Given the description of an element on the screen output the (x, y) to click on. 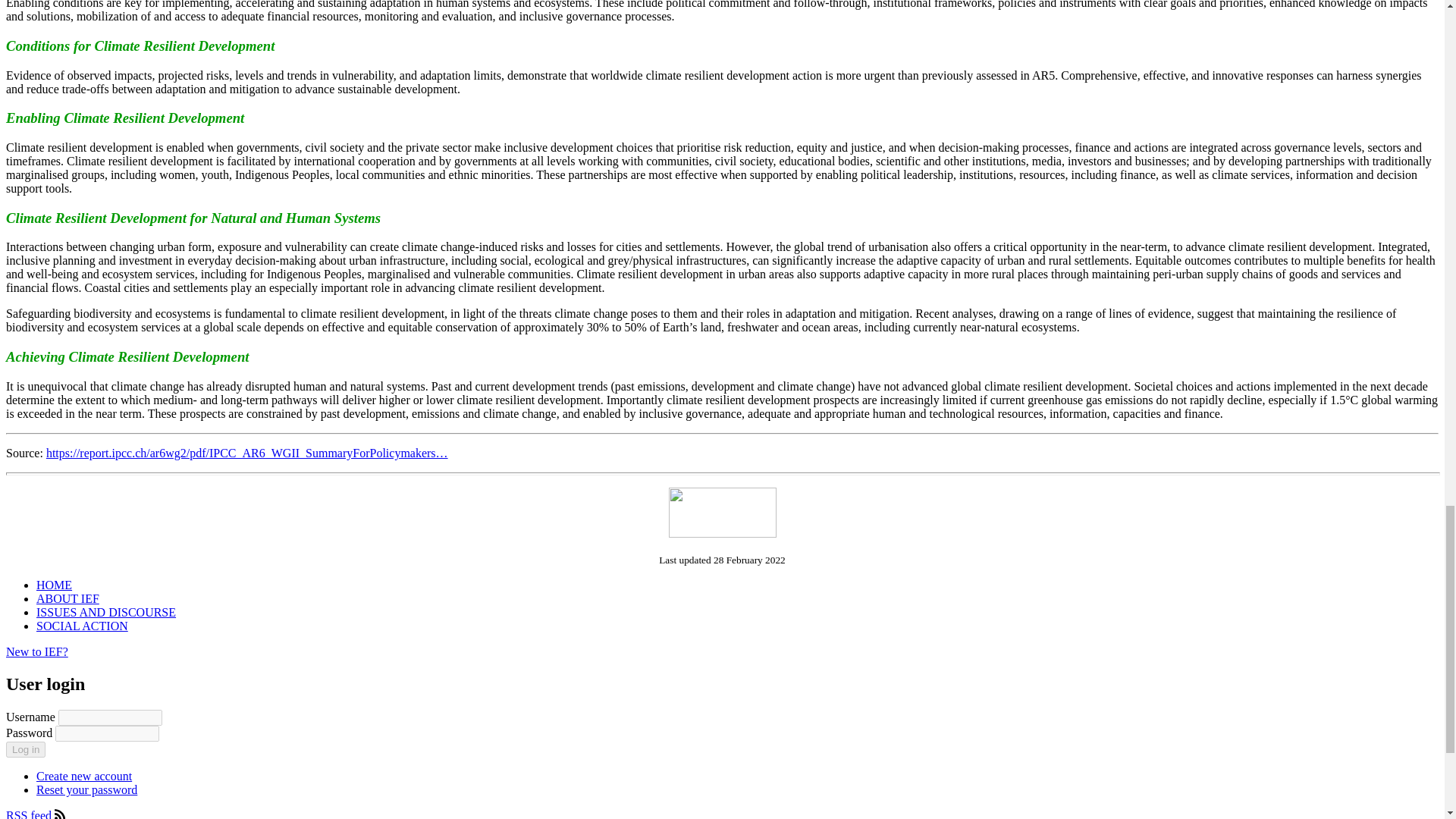
HOME (53, 584)
Send password reset instructions via email. (86, 789)
Create a new user account. (84, 775)
Log in (25, 749)
ABOUT IEF (67, 598)
